Given the description of an element on the screen output the (x, y) to click on. 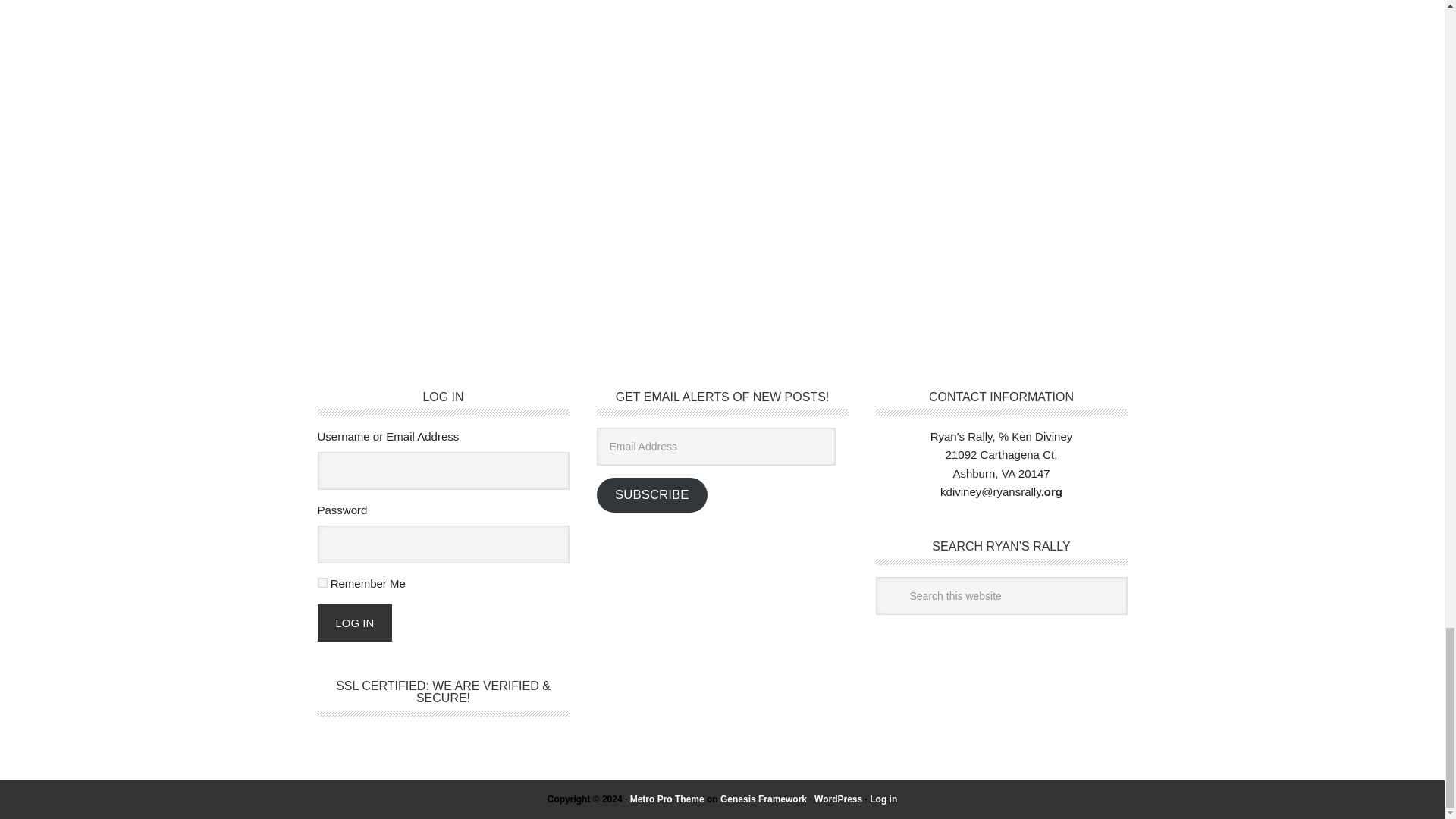
forever (321, 583)
